Given the description of an element on the screen output the (x, y) to click on. 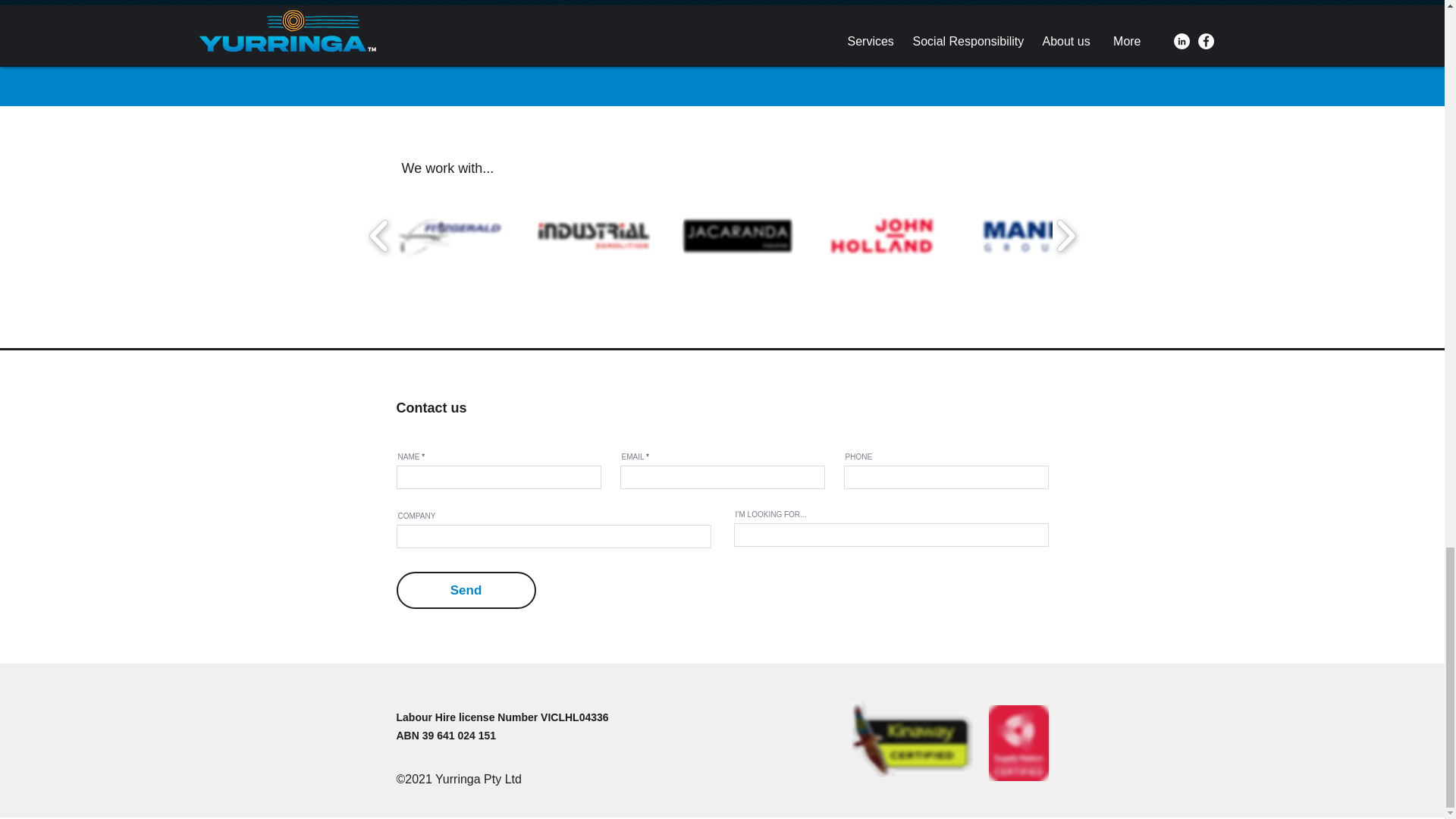
Send (465, 590)
